Given the description of an element on the screen output the (x, y) to click on. 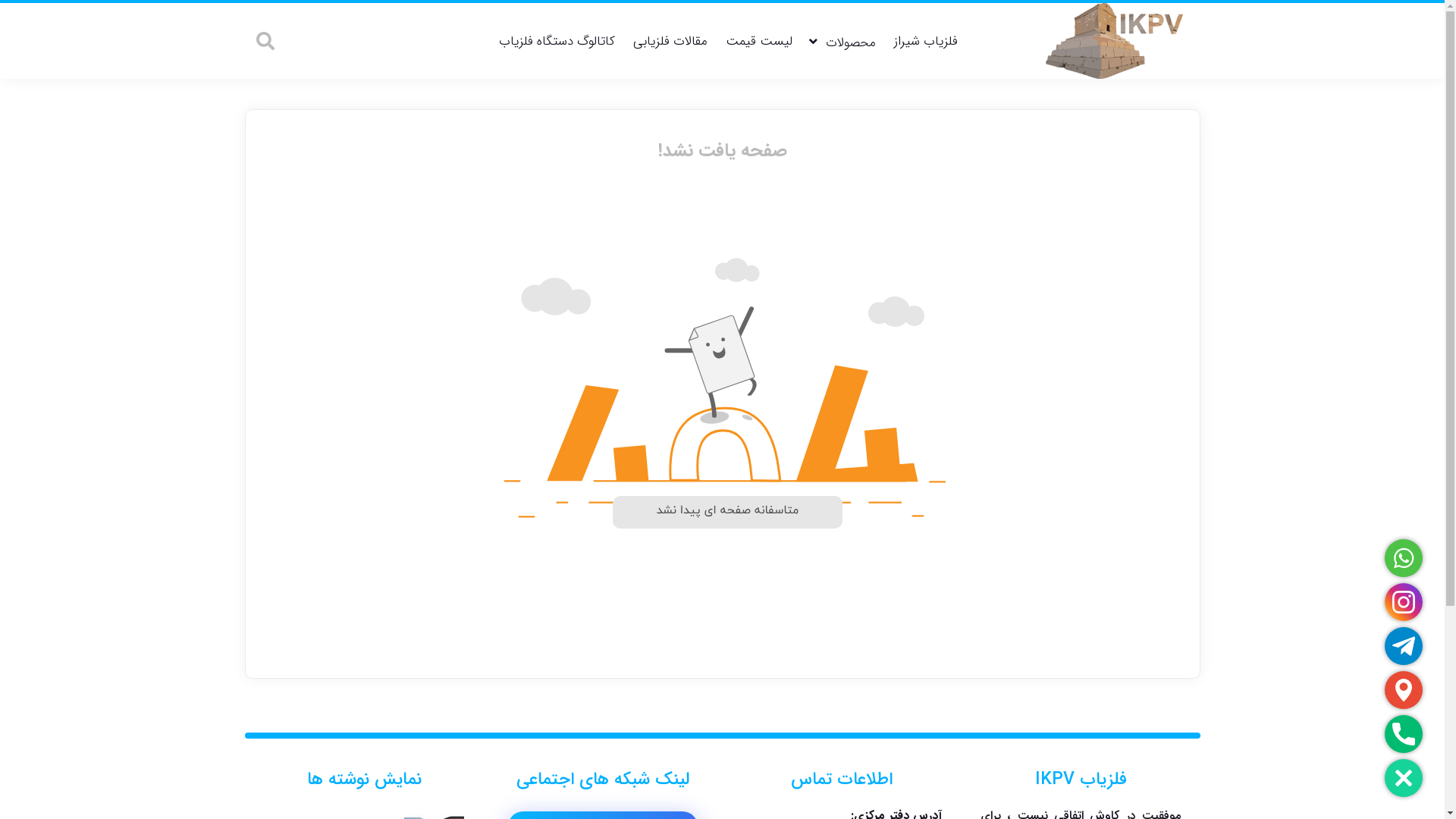
Close Element type: text (1403, 778)
